Given the description of an element on the screen output the (x, y) to click on. 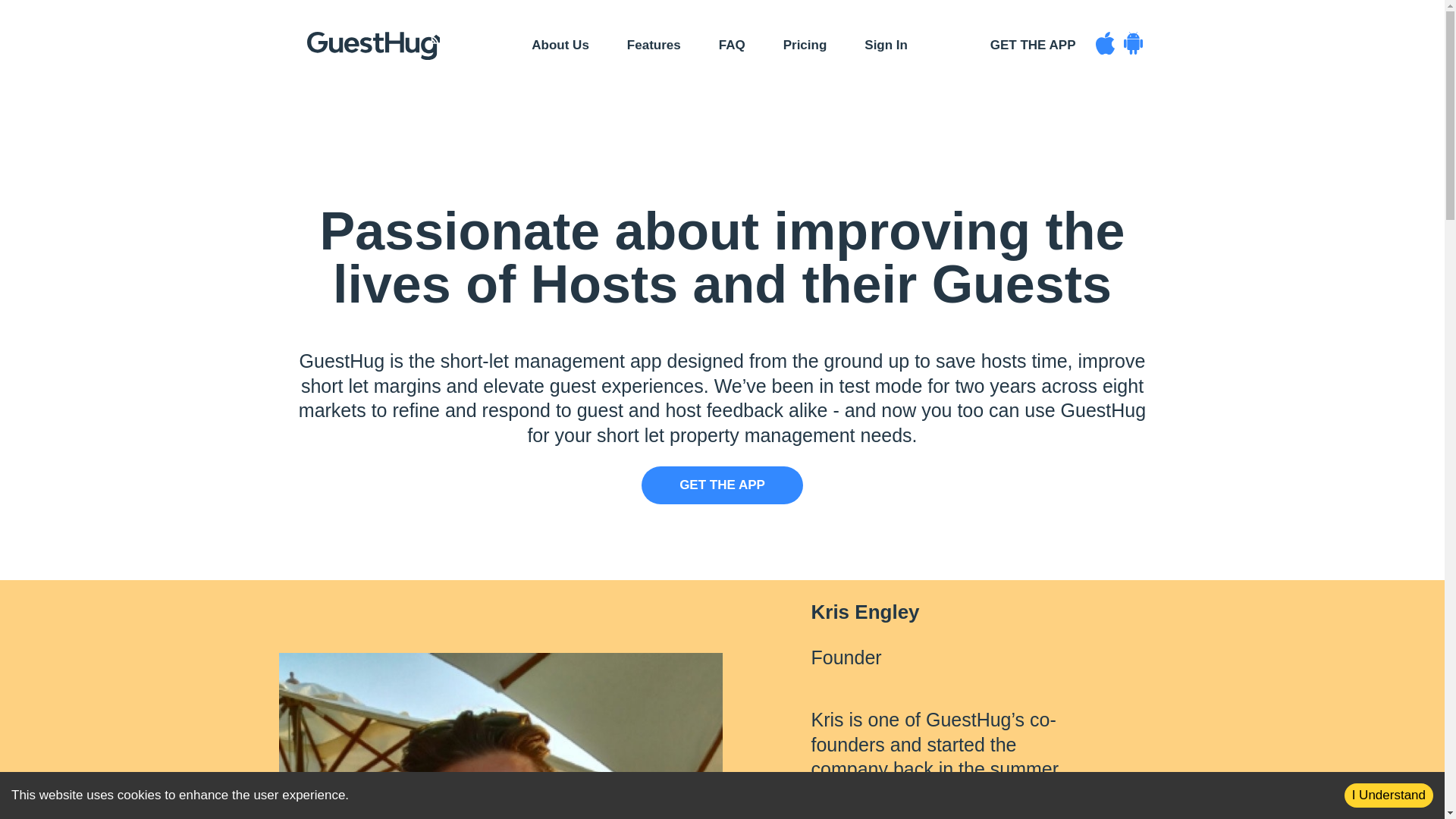
GET THE APP (722, 485)
FAQ (731, 45)
Pricing (804, 45)
About Us (560, 45)
Features (653, 45)
Sign In (886, 45)
